Given the description of an element on the screen output the (x, y) to click on. 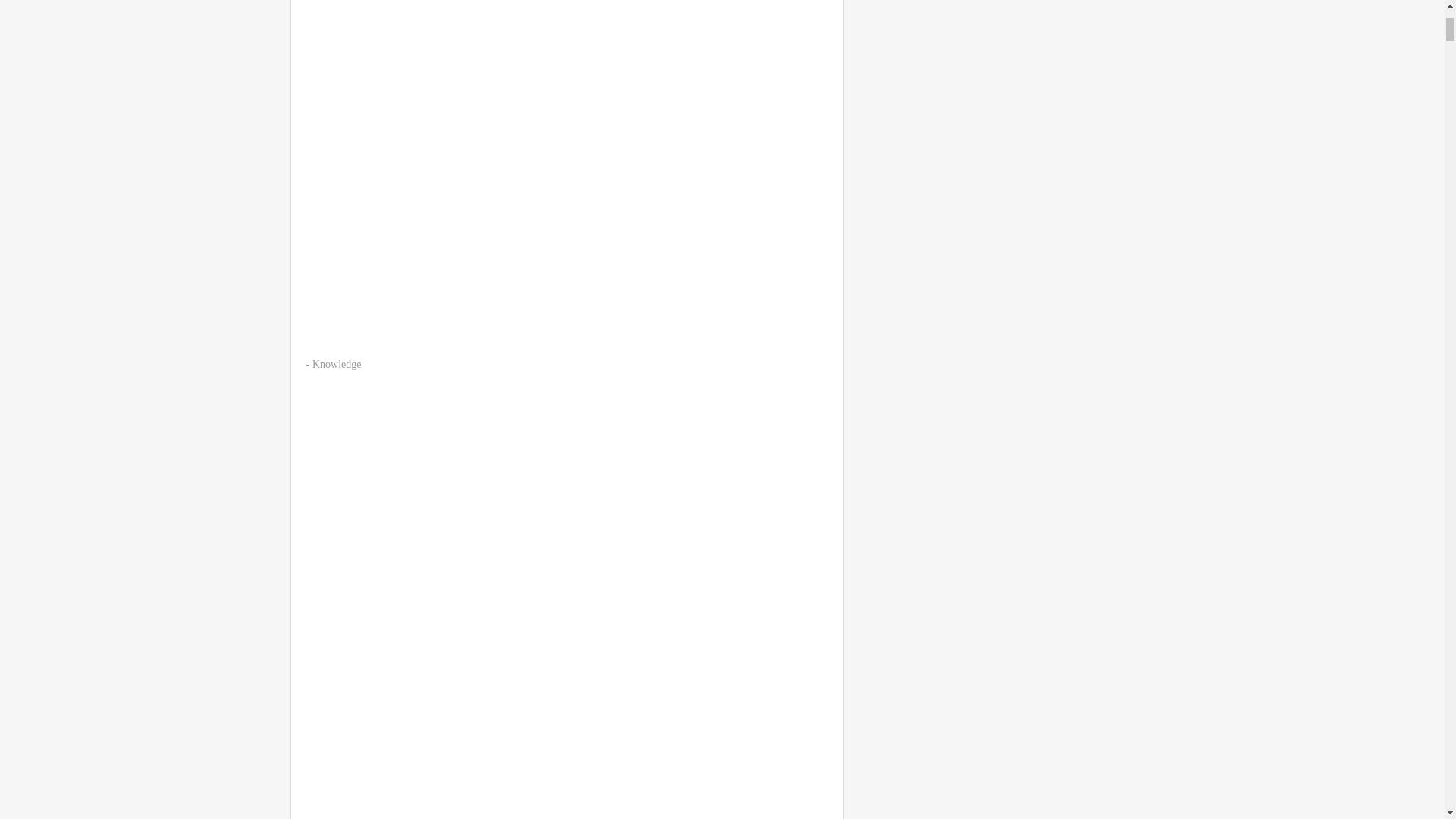
Knowledge (337, 364)
